Given the description of an element on the screen output the (x, y) to click on. 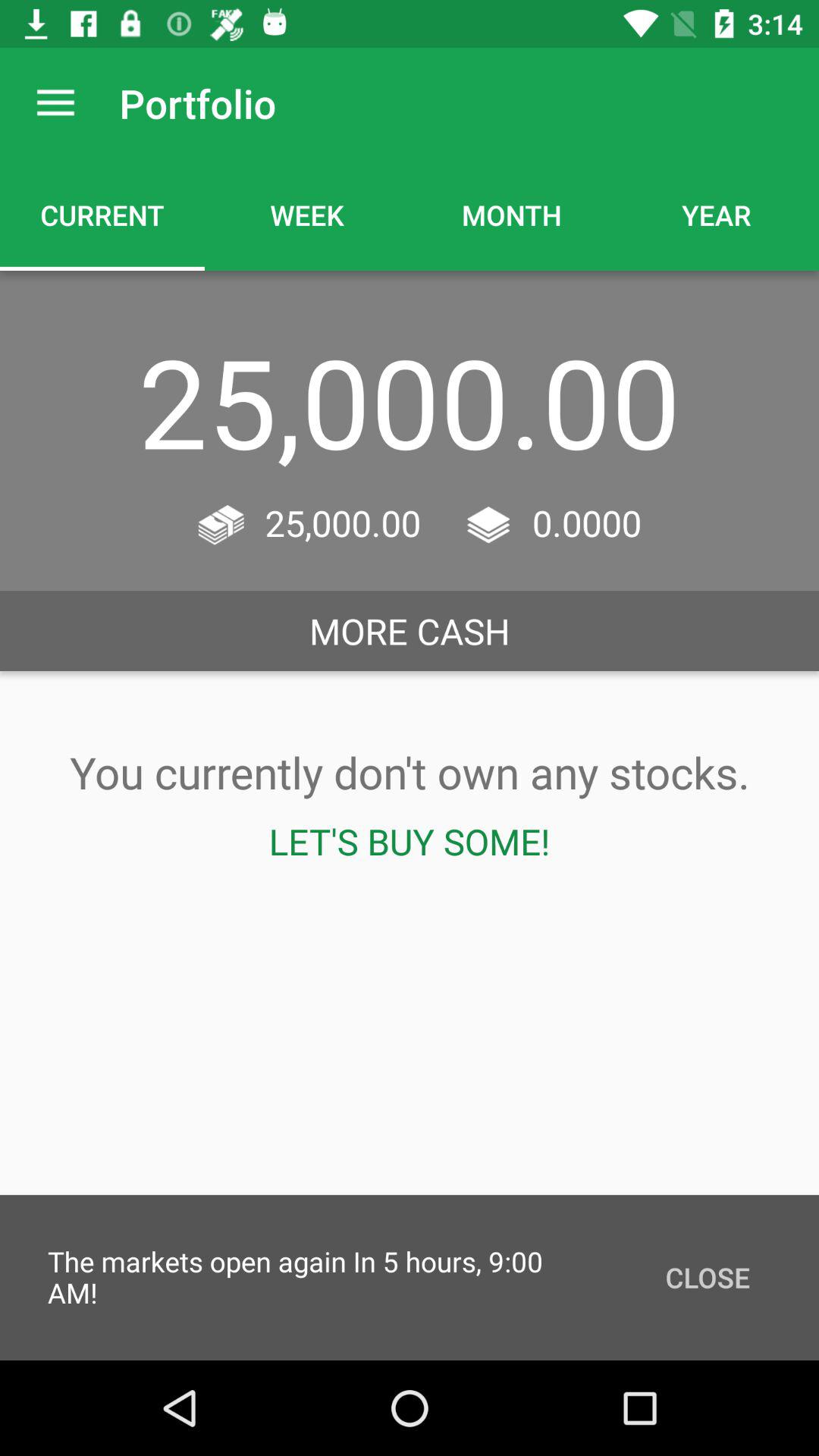
swipe until close icon (707, 1277)
